Given the description of an element on the screen output the (x, y) to click on. 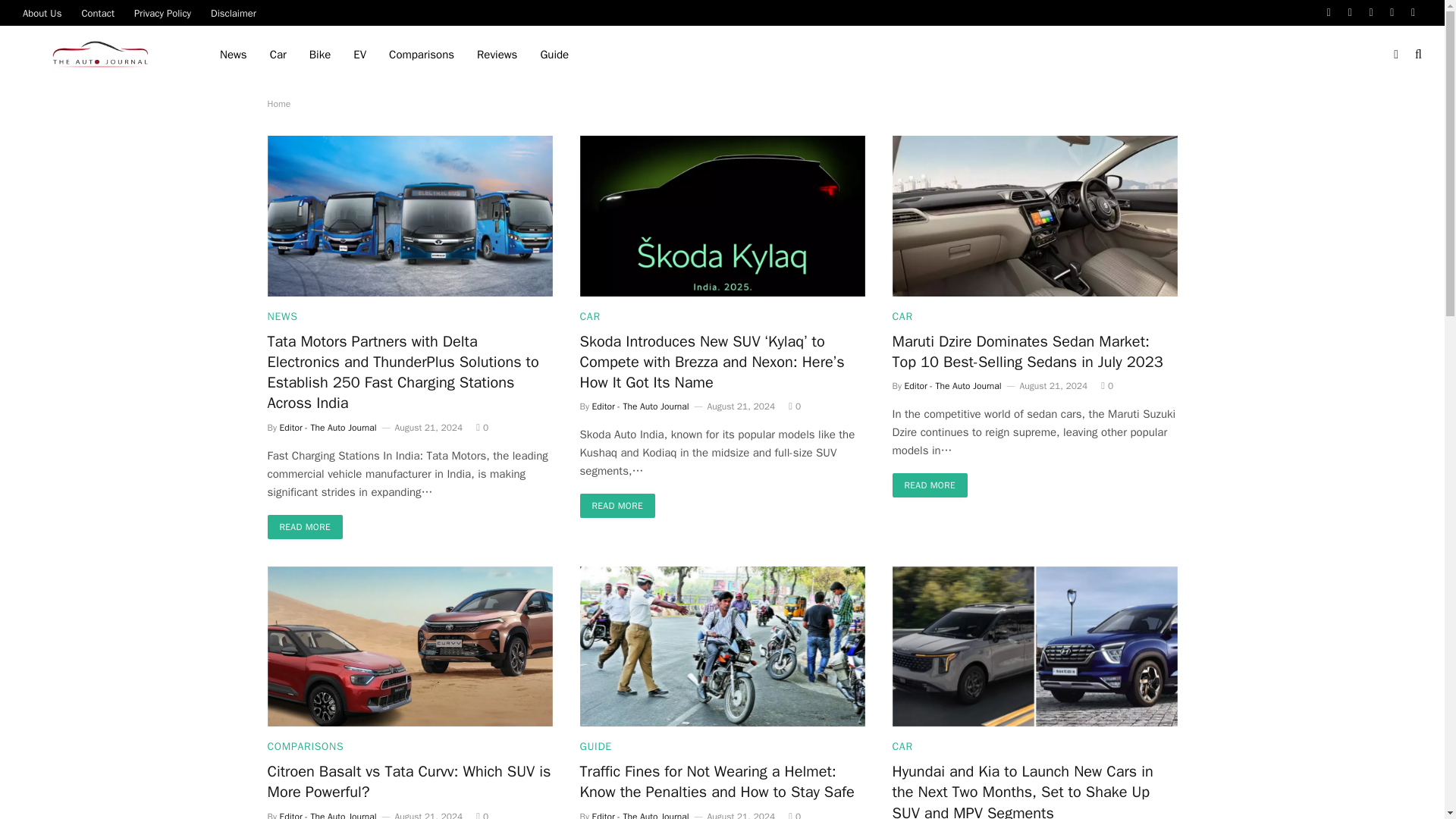
Switch to Dark Design - easier on eyes. (1396, 54)
About Us (42, 12)
Posts by Editor - The Auto Journal (952, 386)
Guide (553, 54)
Privacy Policy (161, 12)
The Auto Journal (102, 54)
NEWS (281, 316)
